Given the description of an element on the screen output the (x, y) to click on. 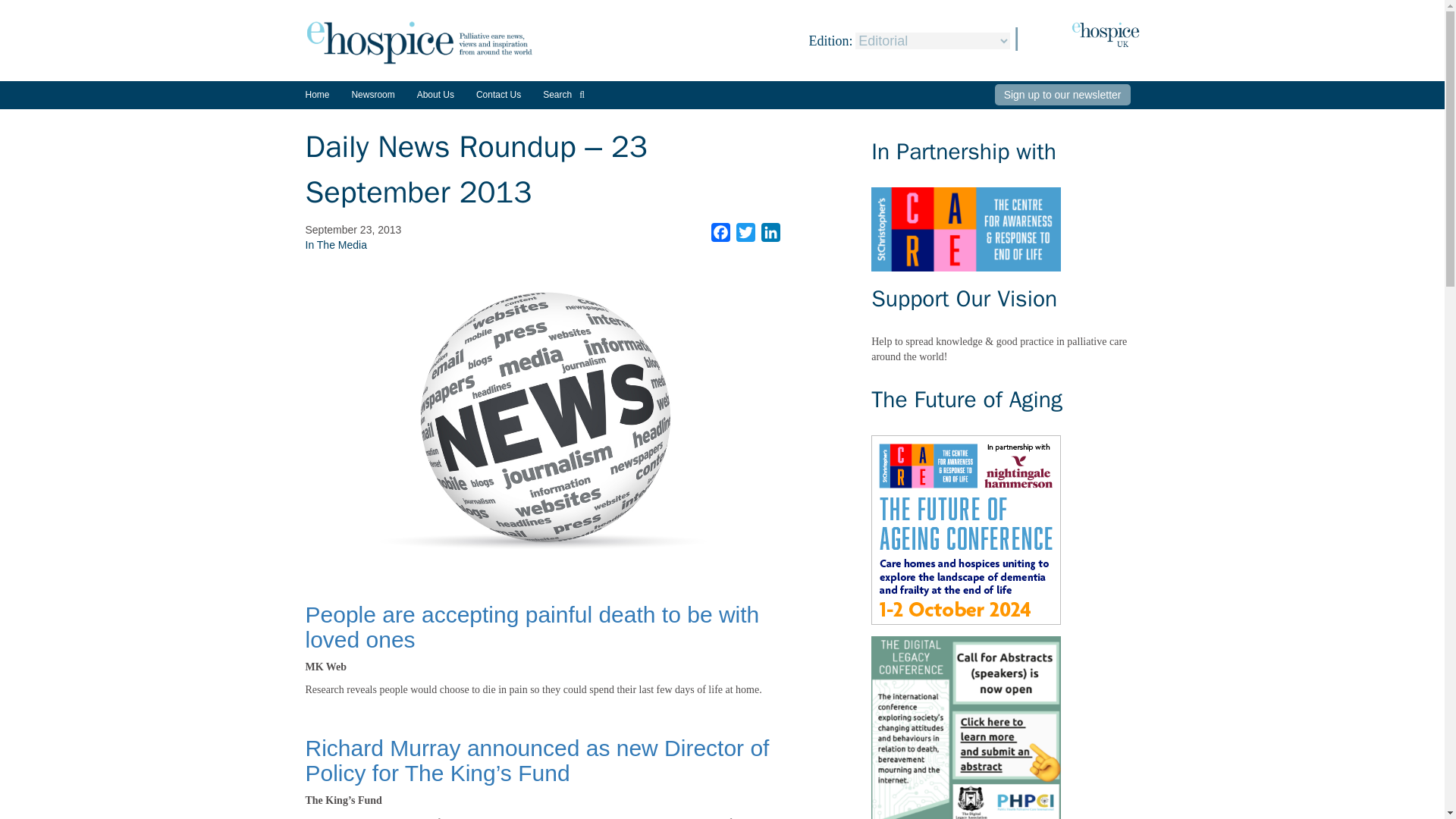
Sign up to our newsletter (1062, 94)
About Us (435, 94)
Newsroom (372, 100)
Facebook (720, 231)
LinkedIn (770, 231)
Twitter (745, 231)
Search (564, 94)
Home (316, 94)
Contact Us (498, 94)
